Given the description of an element on the screen output the (x, y) to click on. 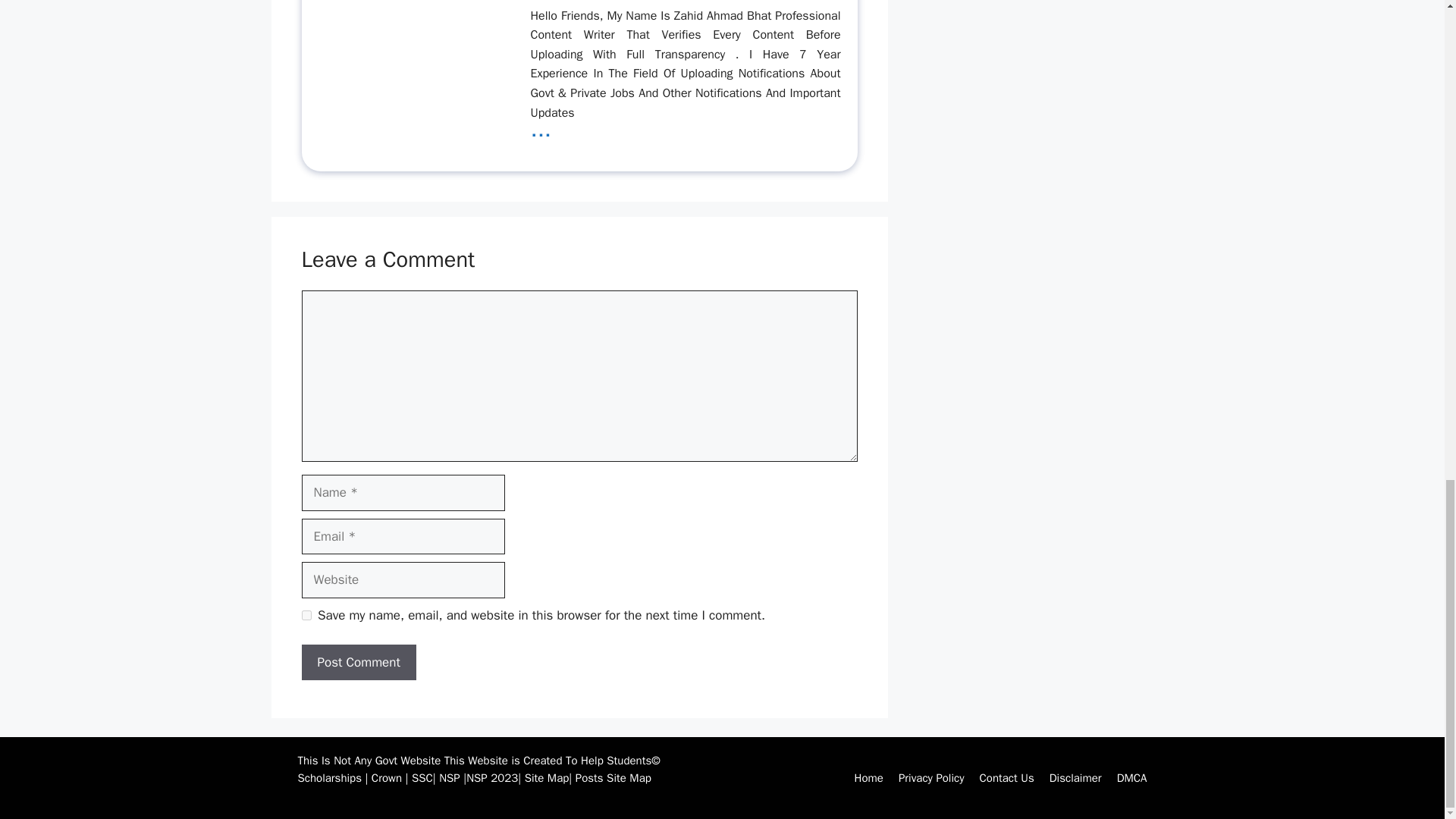
Privacy Policy (930, 777)
Disclaimer (1075, 777)
Contact Us (1006, 777)
Post Comment (358, 662)
Home (868, 777)
Post Comment (358, 662)
Scroll back to top (1406, 366)
yes (306, 614)
DMCA (1131, 777)
